Given the description of an element on the screen output the (x, y) to click on. 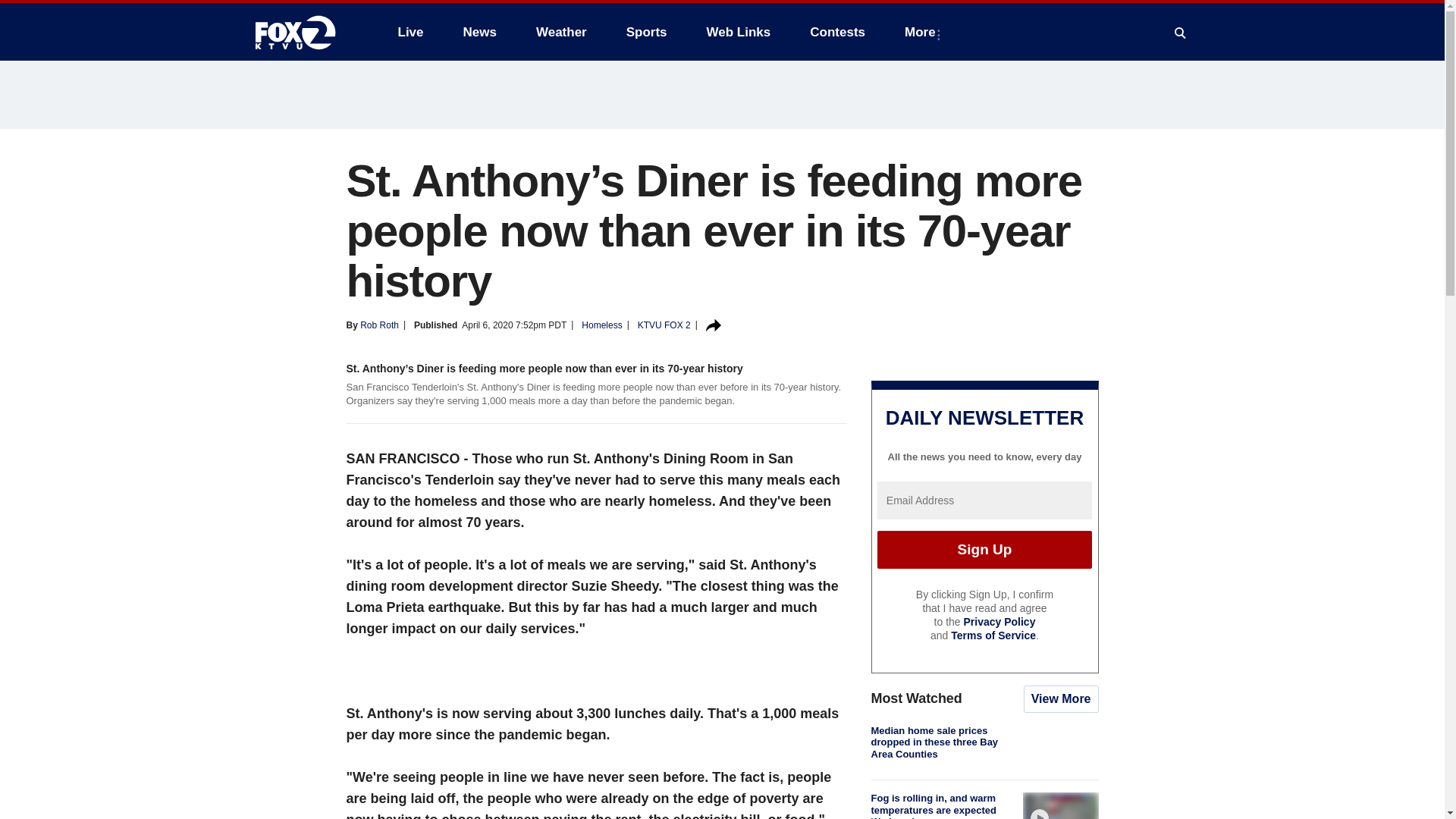
More (922, 32)
Weather (561, 32)
Web Links (738, 32)
Live (410, 32)
Sports (646, 32)
Sign Up (984, 549)
Contests (837, 32)
News (479, 32)
